Given the description of an element on the screen output the (x, y) to click on. 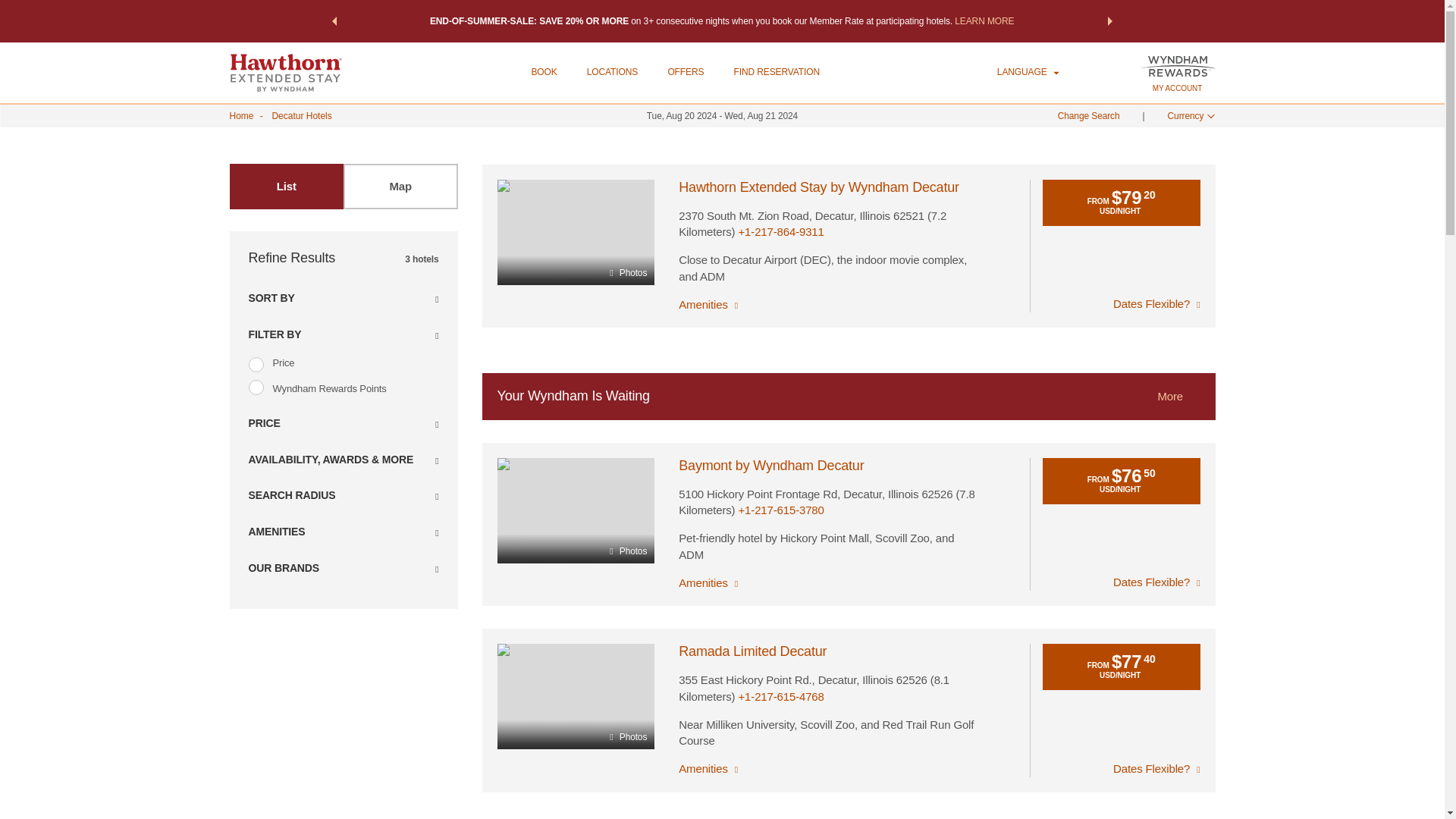
LEARN MORE (984, 20)
LOCATIONS (611, 71)
FIND RESERVATION (776, 71)
LANGUAGE (1028, 72)
More (1194, 394)
OFFERS (684, 71)
MY ACCOUNT (1177, 88)
BOOK (543, 71)
